Given the description of an element on the screen output the (x, y) to click on. 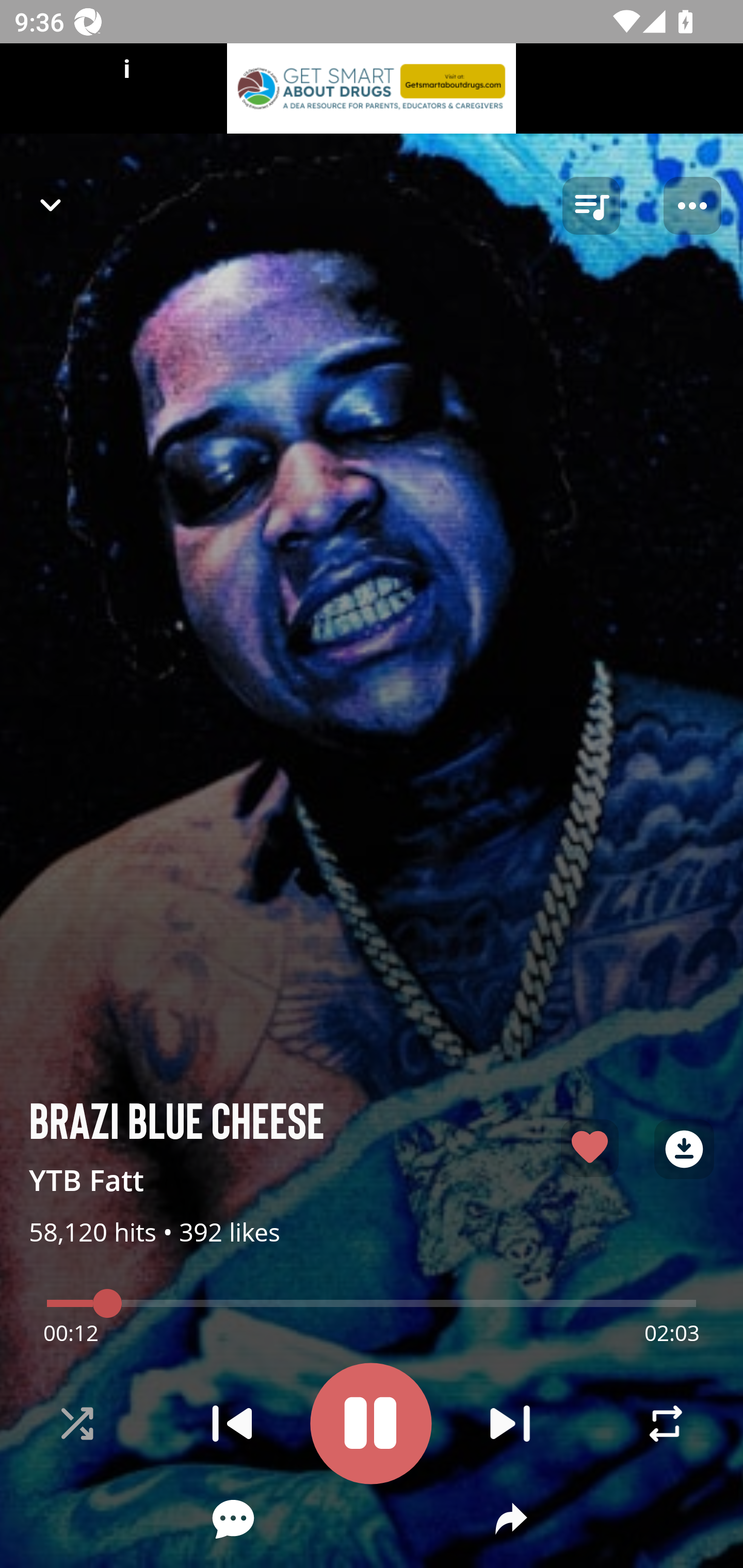
Navigate up (50, 205)
queue (590, 206)
Player options (692, 206)
